Given the description of an element on the screen output the (x, y) to click on. 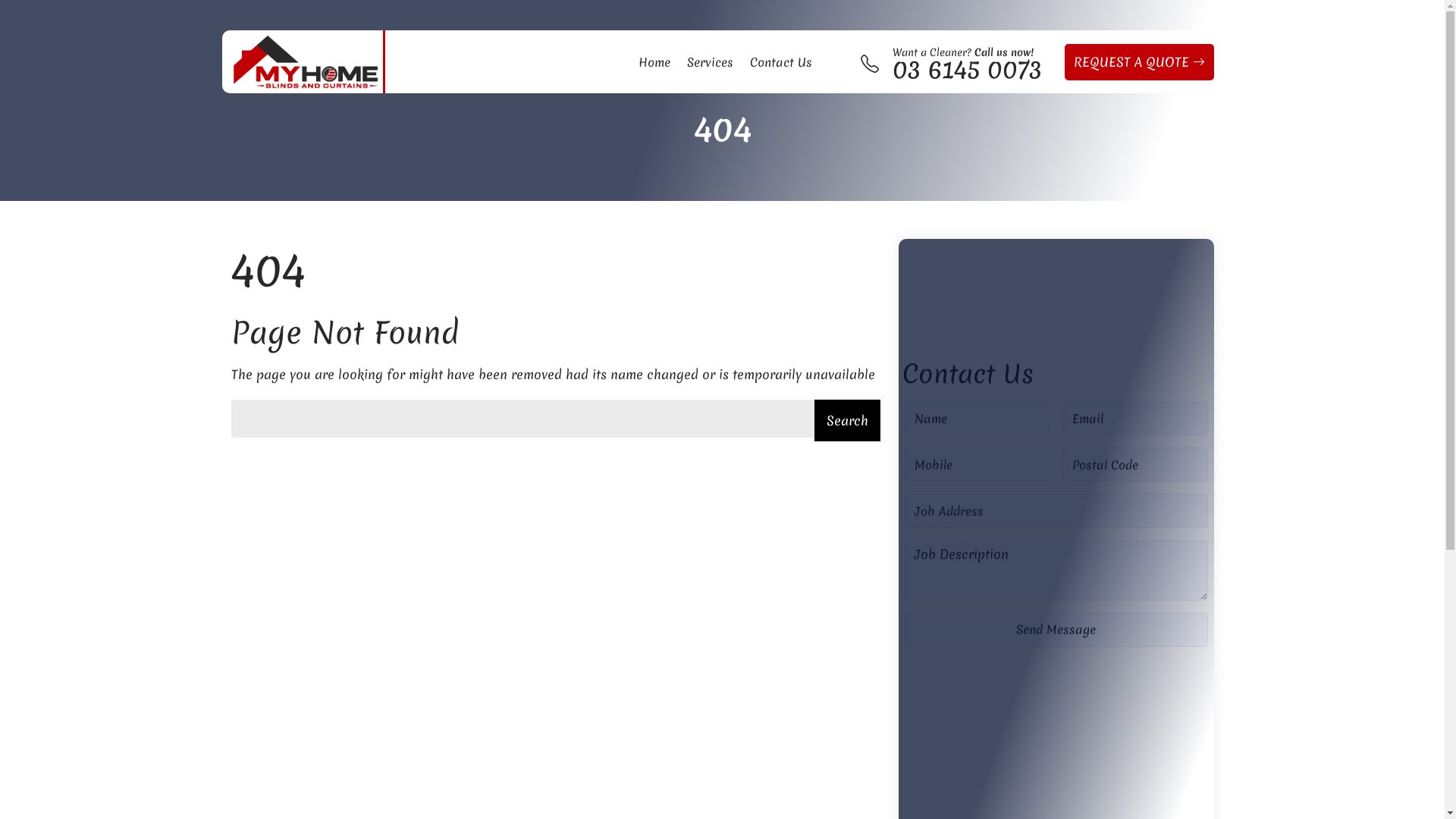
Services Element type: text (709, 61)
Search Element type: text (847, 420)
Home Element type: text (653, 61)
REQUEST A QUOTE Element type: text (1139, 61)
Send Message Element type: text (1055, 629)
Want a Cleaner? Call us now!
03 6145 0073 Element type: text (966, 61)
Contact Us Element type: text (780, 61)
